Given the description of an element on the screen output the (x, y) to click on. 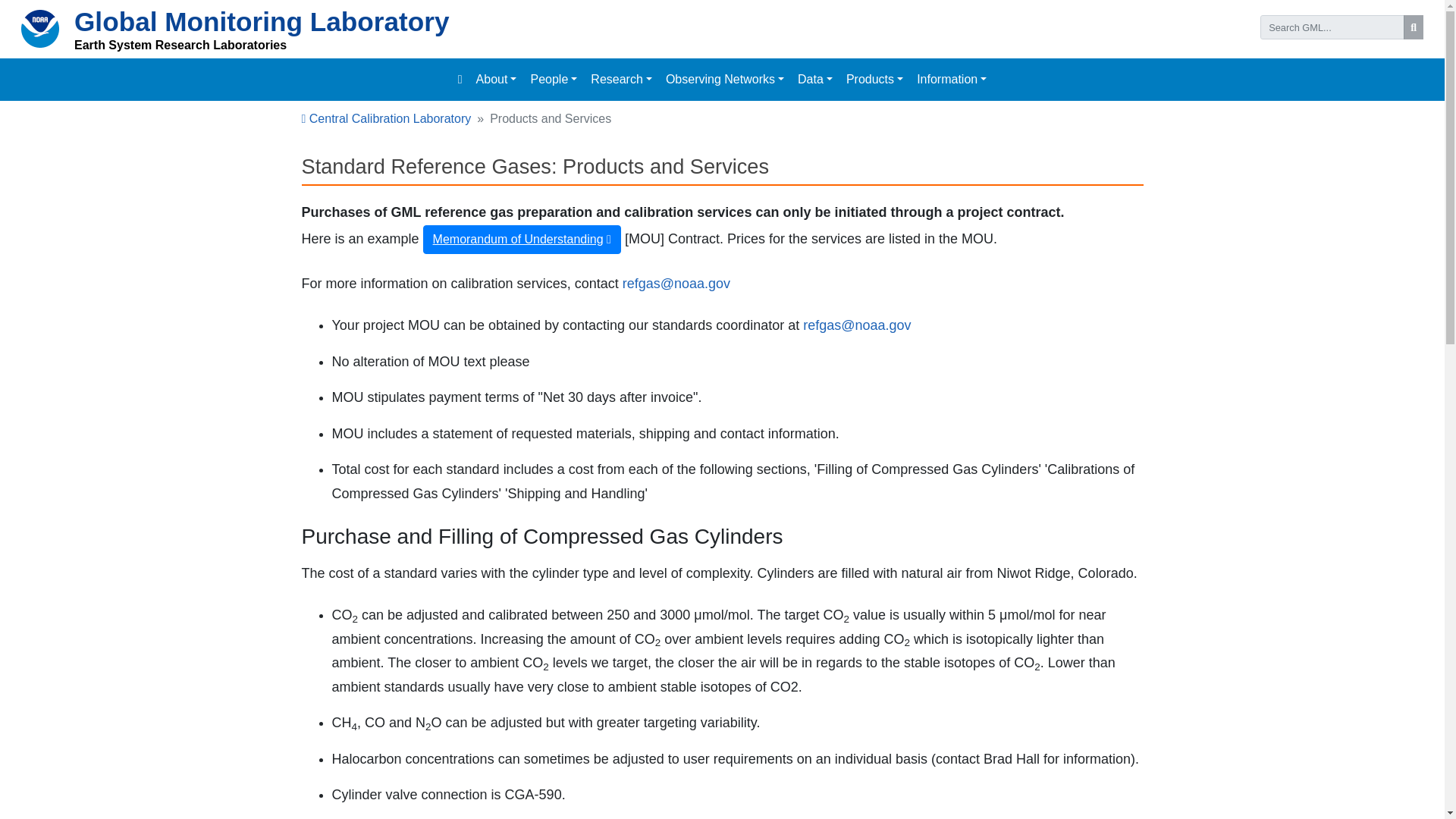
GML (261, 21)
Observing Networks (724, 79)
People (553, 79)
Global Monitoring Laboratory (261, 21)
About (496, 79)
ESRL Home Page (180, 44)
Earth System Research Laboratories (180, 44)
Research (621, 79)
